Given the description of an element on the screen output the (x, y) to click on. 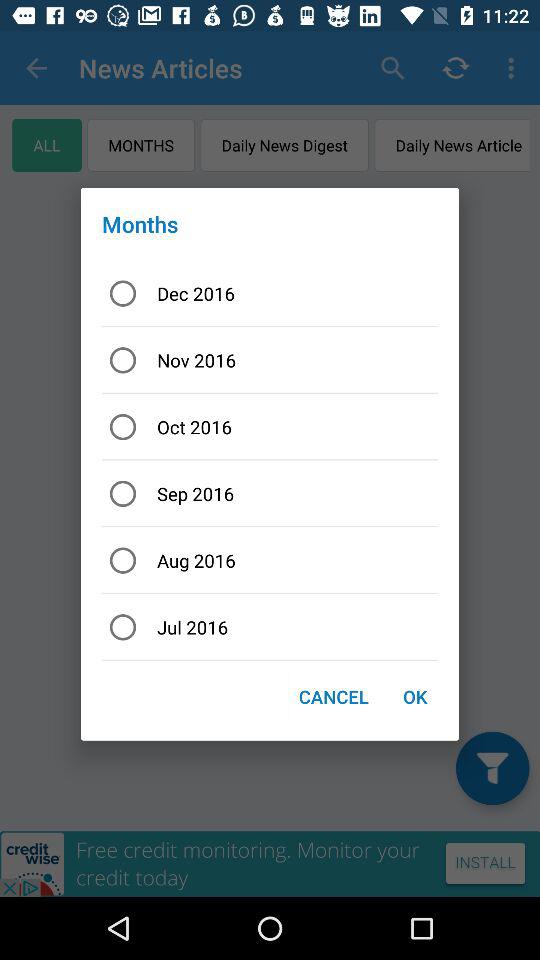
turn off the icon above cancel icon (269, 626)
